Given the description of an element on the screen output the (x, y) to click on. 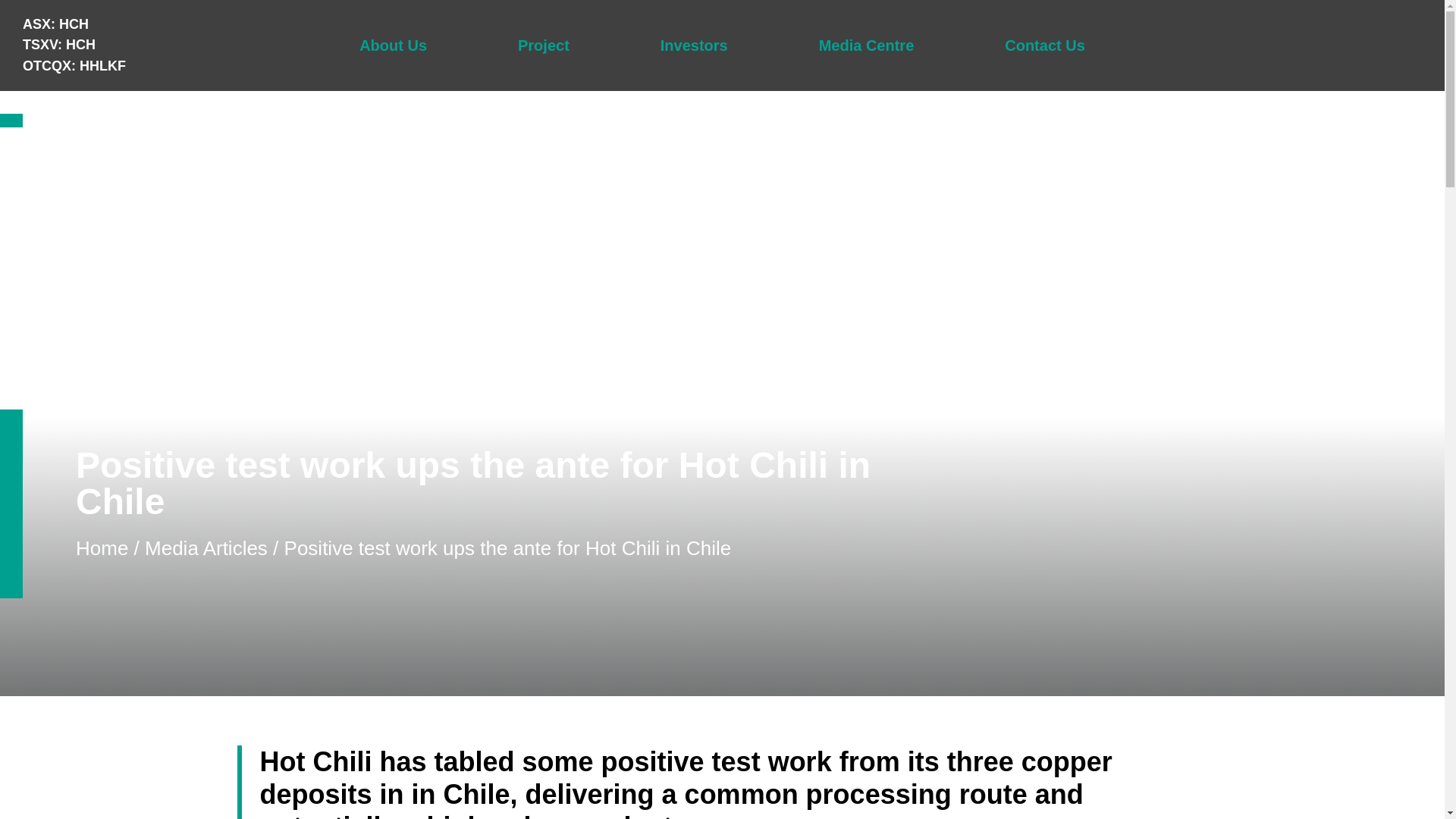
ASX: HCH (55, 23)
About Us (392, 45)
Redirect to ASX HCH (55, 23)
Redirect to TMX HCH (59, 44)
Redirect to Oct markets HHLKF (74, 65)
Investors (694, 45)
Project (543, 45)
TSXV: HCH (59, 44)
OTCQX: HHLKF (74, 65)
Investors (694, 45)
